Given the description of an element on the screen output the (x, y) to click on. 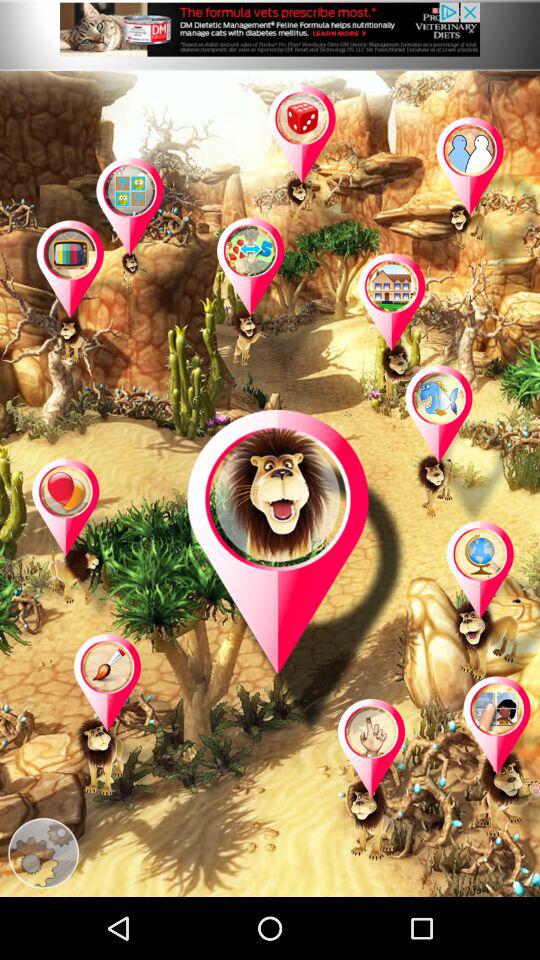
game page (483, 198)
